Given the description of an element on the screen output the (x, y) to click on. 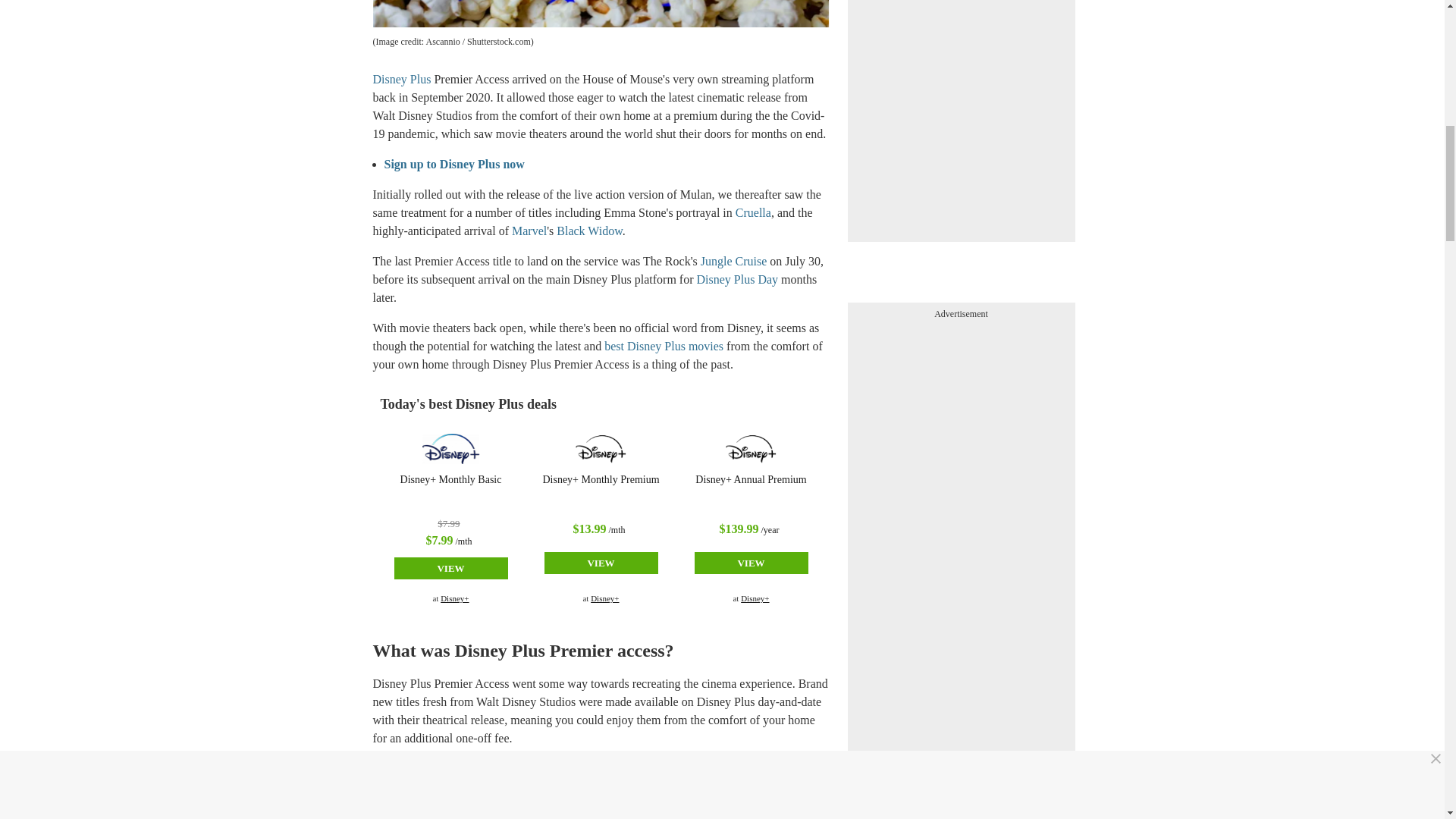
Disney (450, 449)
